Given the description of an element on the screen output the (x, y) to click on. 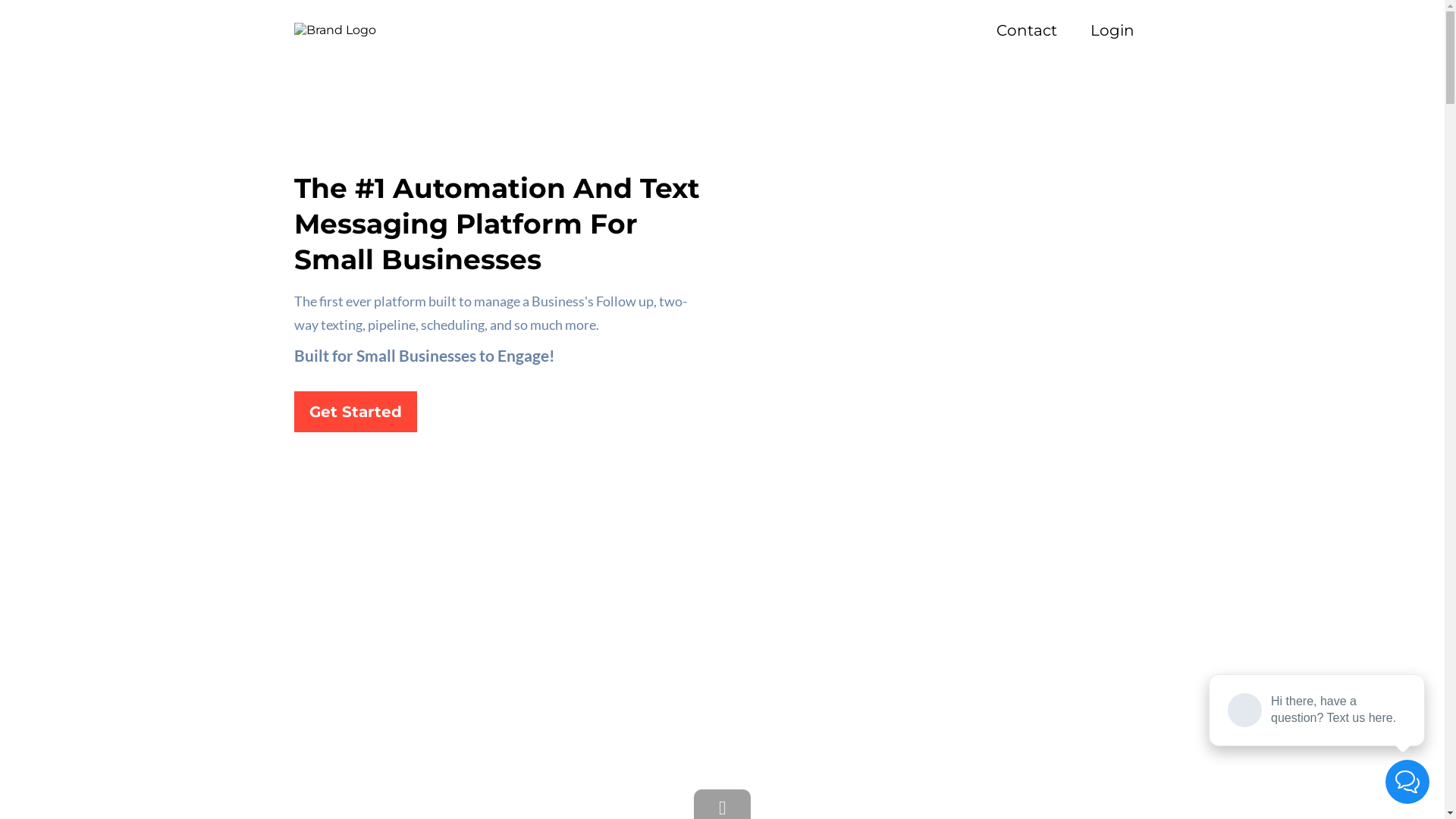
Get Started Element type: text (355, 411)
Contact Element type: text (1026, 30)
Login Element type: text (1112, 30)
